Given the description of an element on the screen output the (x, y) to click on. 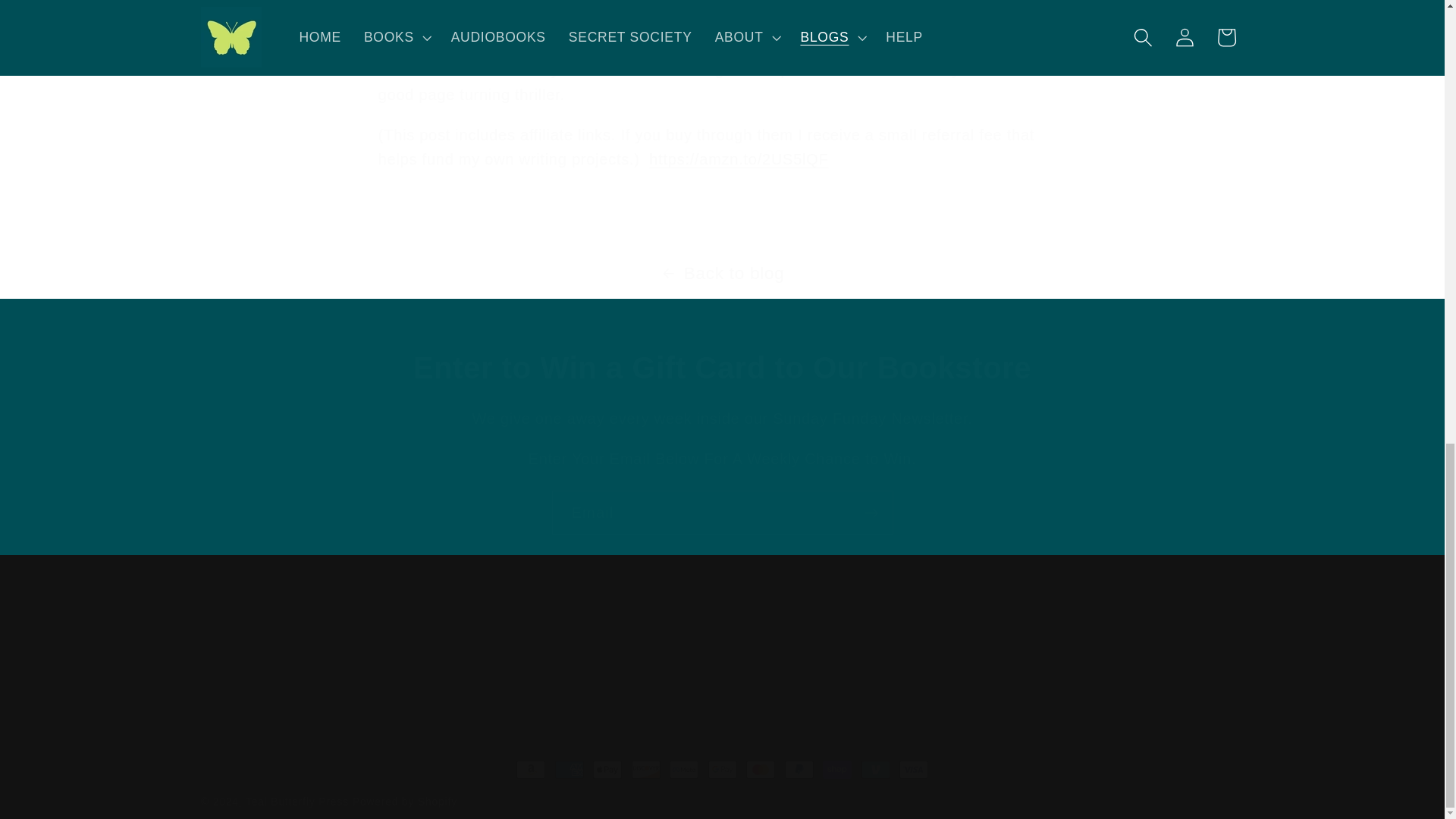
Enter to Win a Gift Card to Our Bookstore (721, 367)
Email (722, 512)
